Given the description of an element on the screen output the (x, y) to click on. 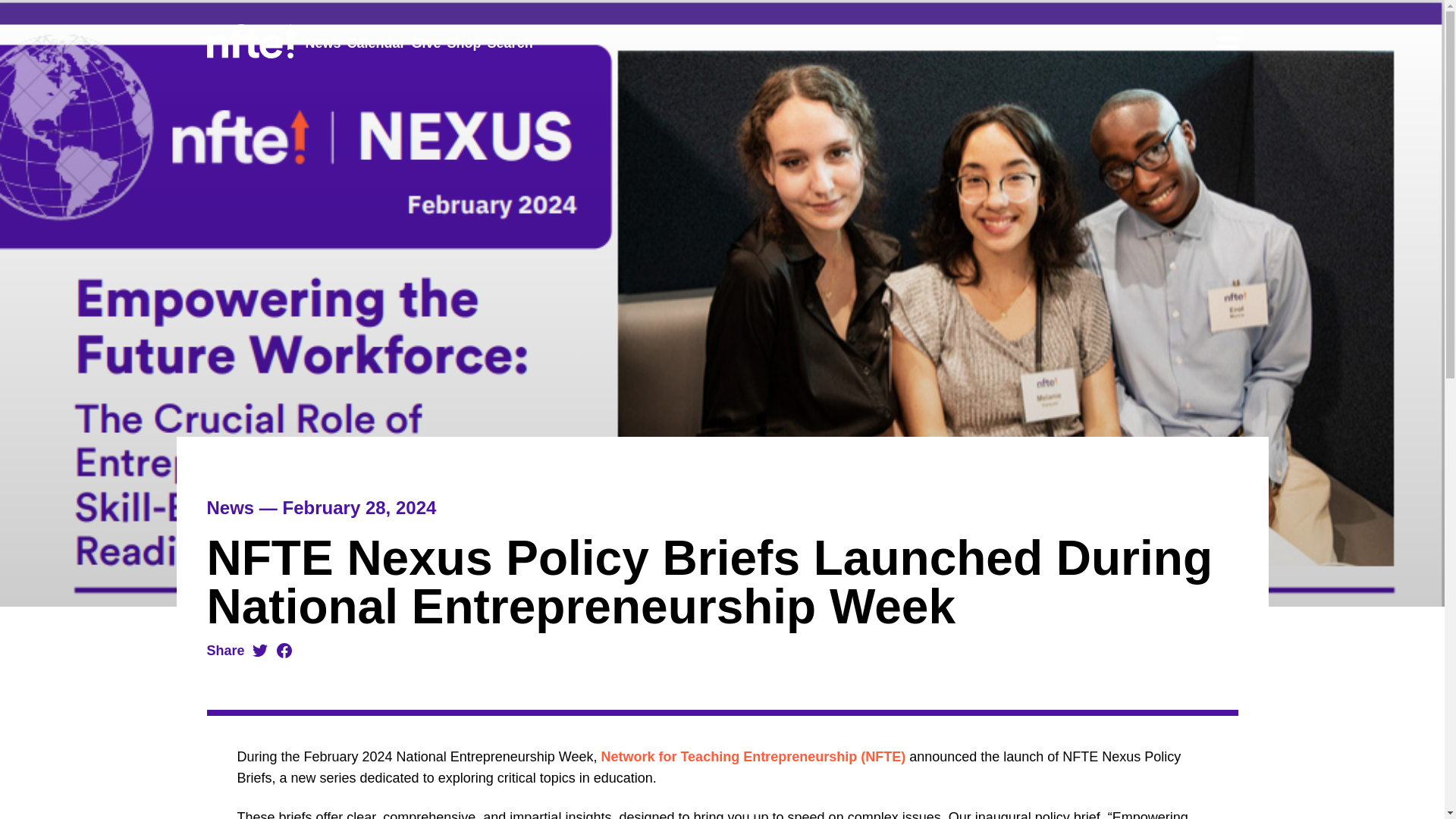
Shop (463, 43)
Search (509, 43)
Calendar (376, 43)
News (322, 43)
Give (426, 43)
